Given the description of an element on the screen output the (x, y) to click on. 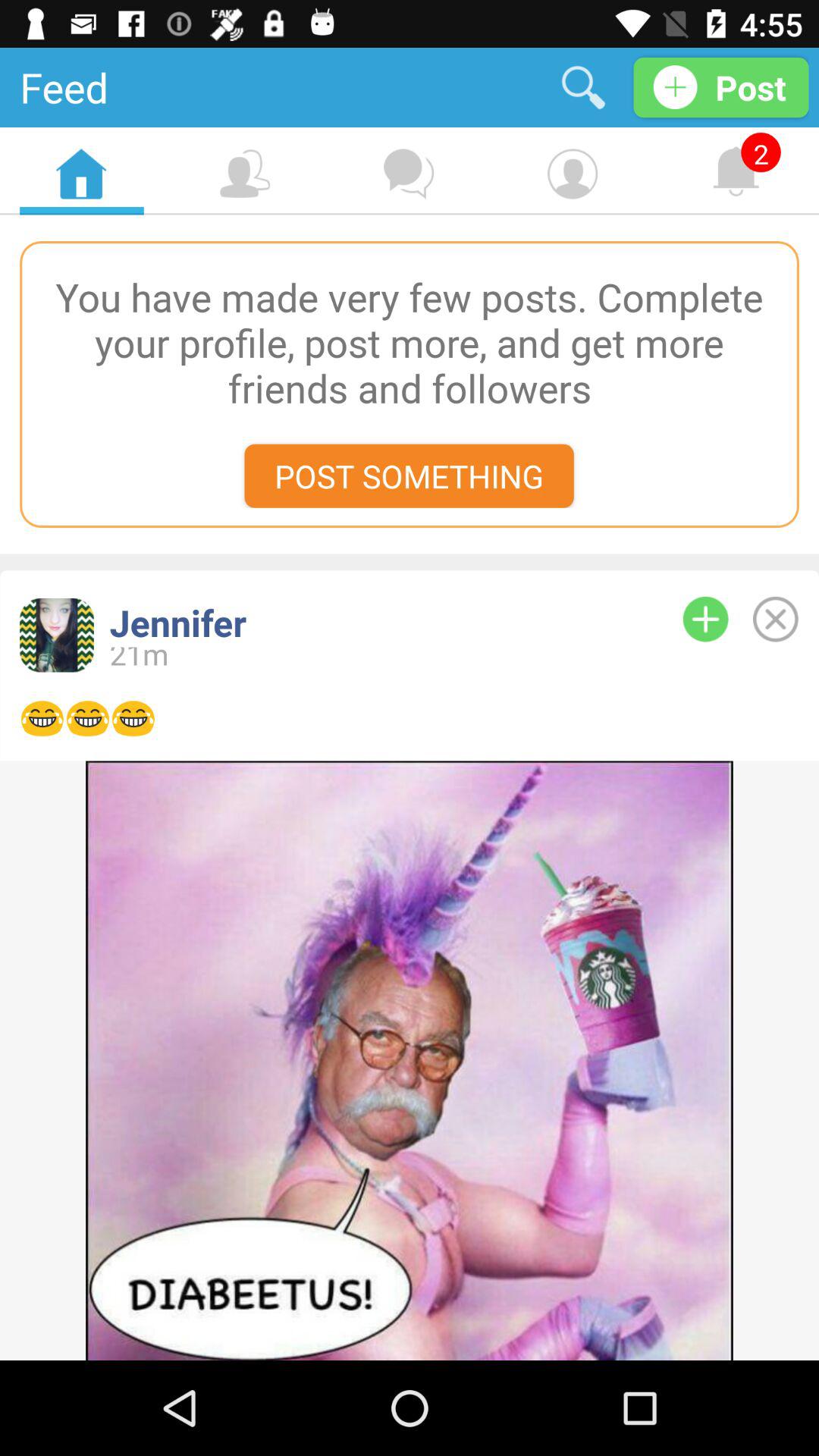
scroll to the post something (408, 475)
